Given the description of an element on the screen output the (x, y) to click on. 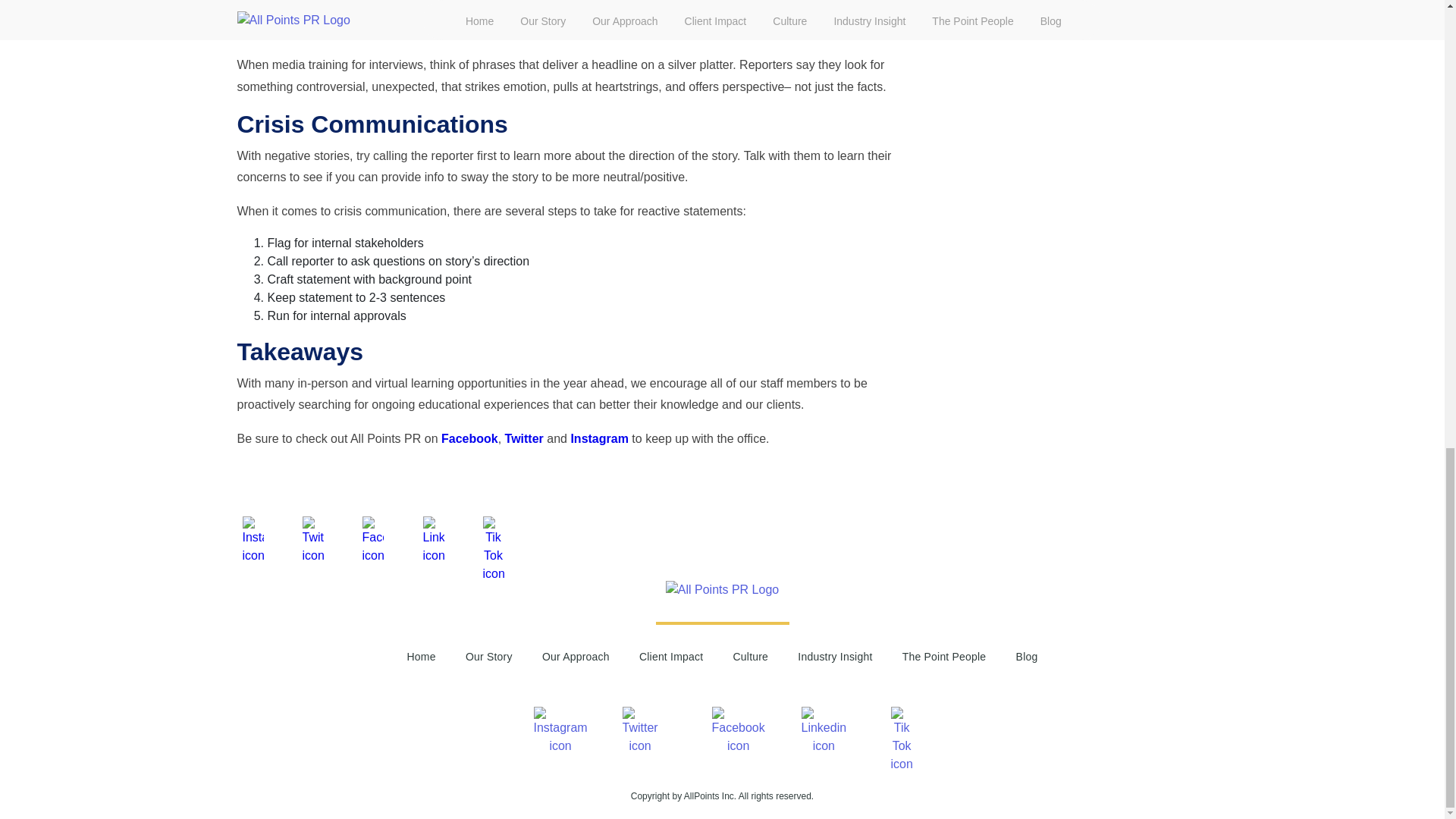
Facebook (469, 438)
Instagram (598, 438)
Twitter (524, 438)
